Given the description of an element on the screen output the (x, y) to click on. 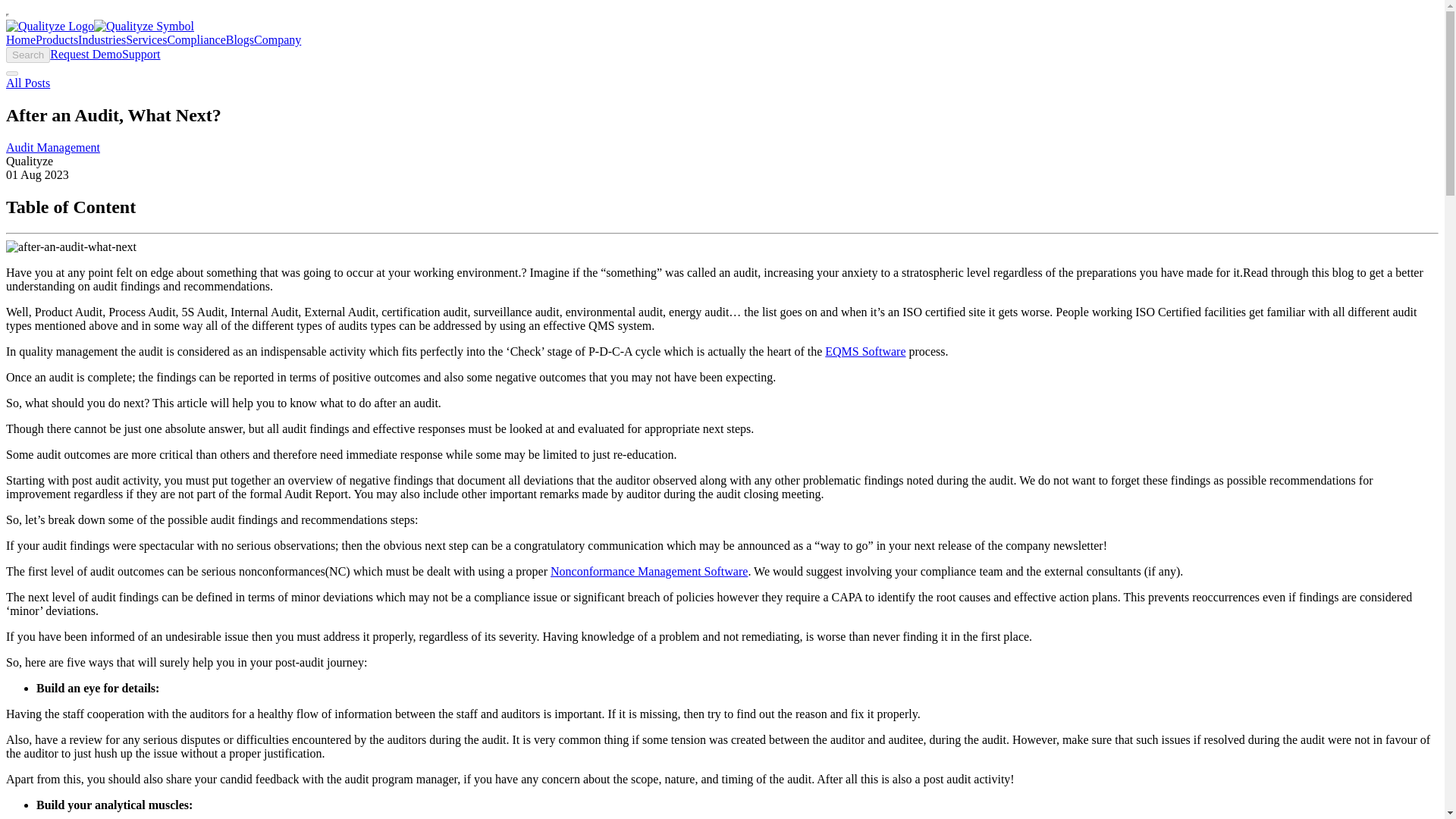
All Posts (27, 82)
Nonconformance Management Software (649, 571)
Compliance (196, 39)
Support (141, 53)
Blogs (239, 39)
Search (27, 54)
Products (56, 39)
Industries (101, 39)
EQMS Software (865, 350)
Home (19, 39)
